Given the description of an element on the screen output the (x, y) to click on. 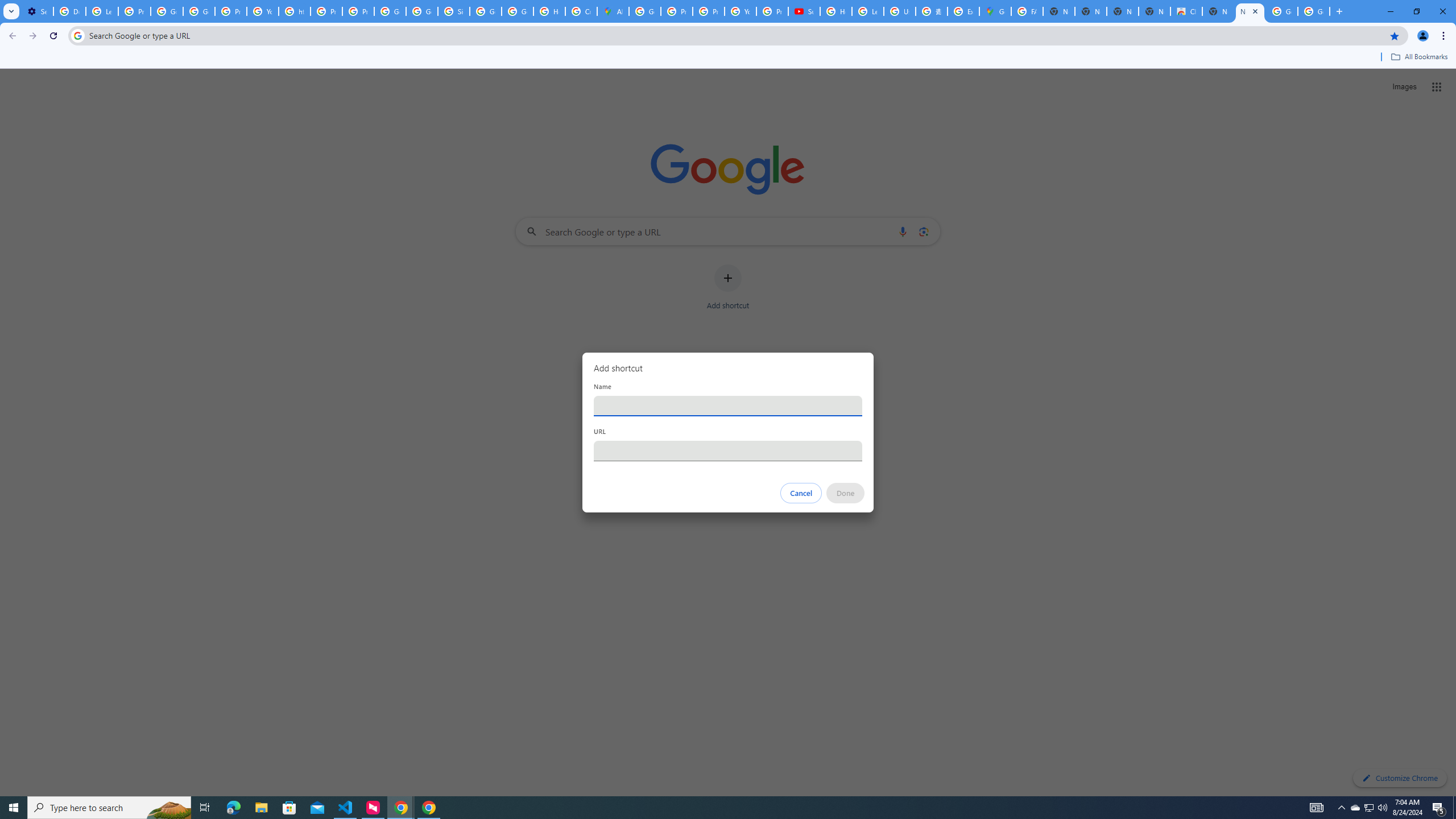
Privacy Help Center - Policies Help (676, 11)
Sign in - Google Accounts (453, 11)
Done (845, 493)
Privacy Help Center - Policies Help (326, 11)
YouTube (262, 11)
Chrome Web Store (1185, 11)
Privacy Help Center - Policies Help (708, 11)
